Given the description of an element on the screen output the (x, y) to click on. 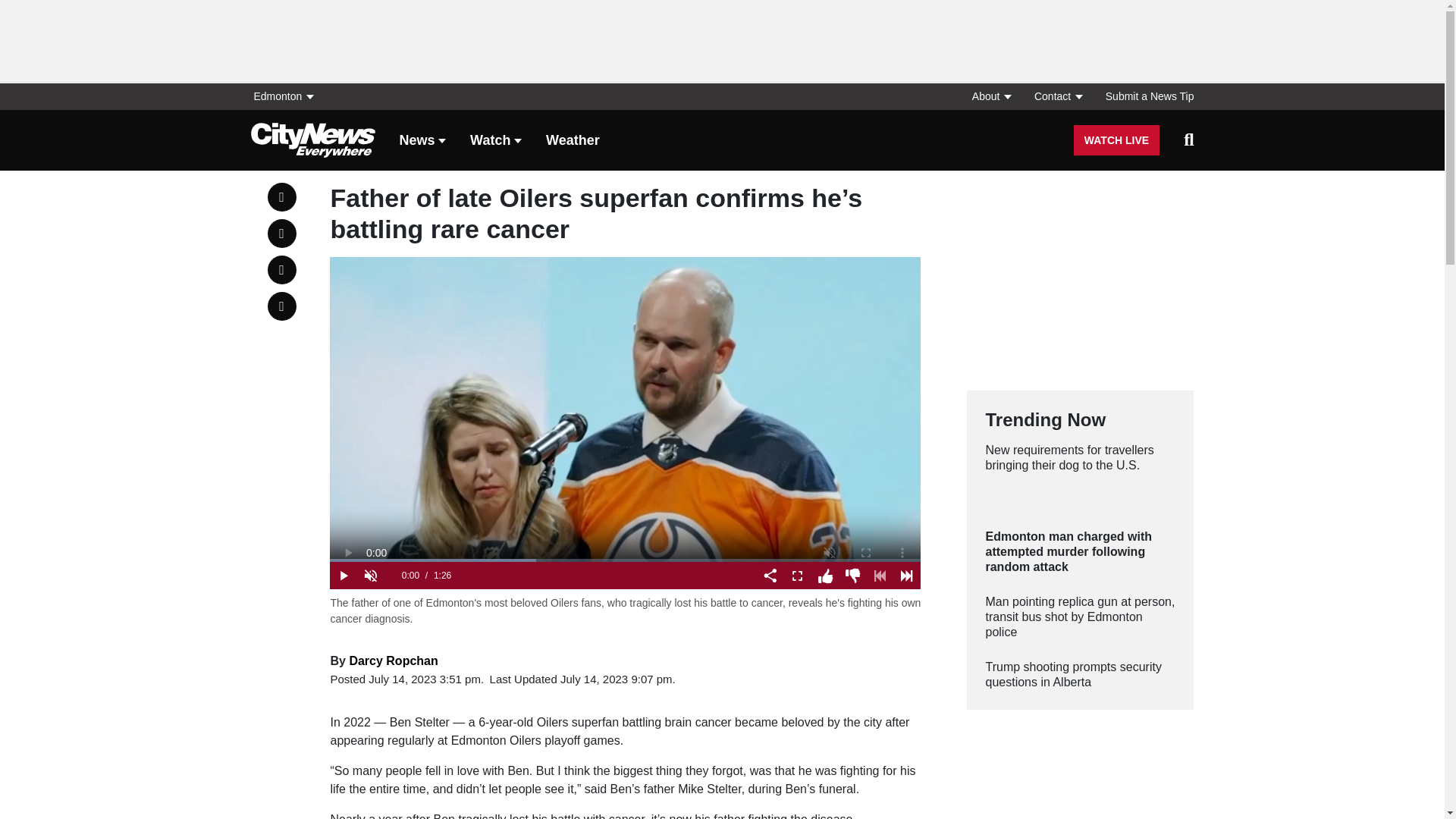
News (421, 140)
Share (770, 574)
Submit a News Tip (1143, 96)
About (990, 96)
Play (343, 574)
Edmonton (286, 96)
Contact (1057, 96)
Watch (495, 140)
Fullscreen (797, 574)
Unmute (370, 574)
Weather (572, 140)
